Given the description of an element on the screen output the (x, y) to click on. 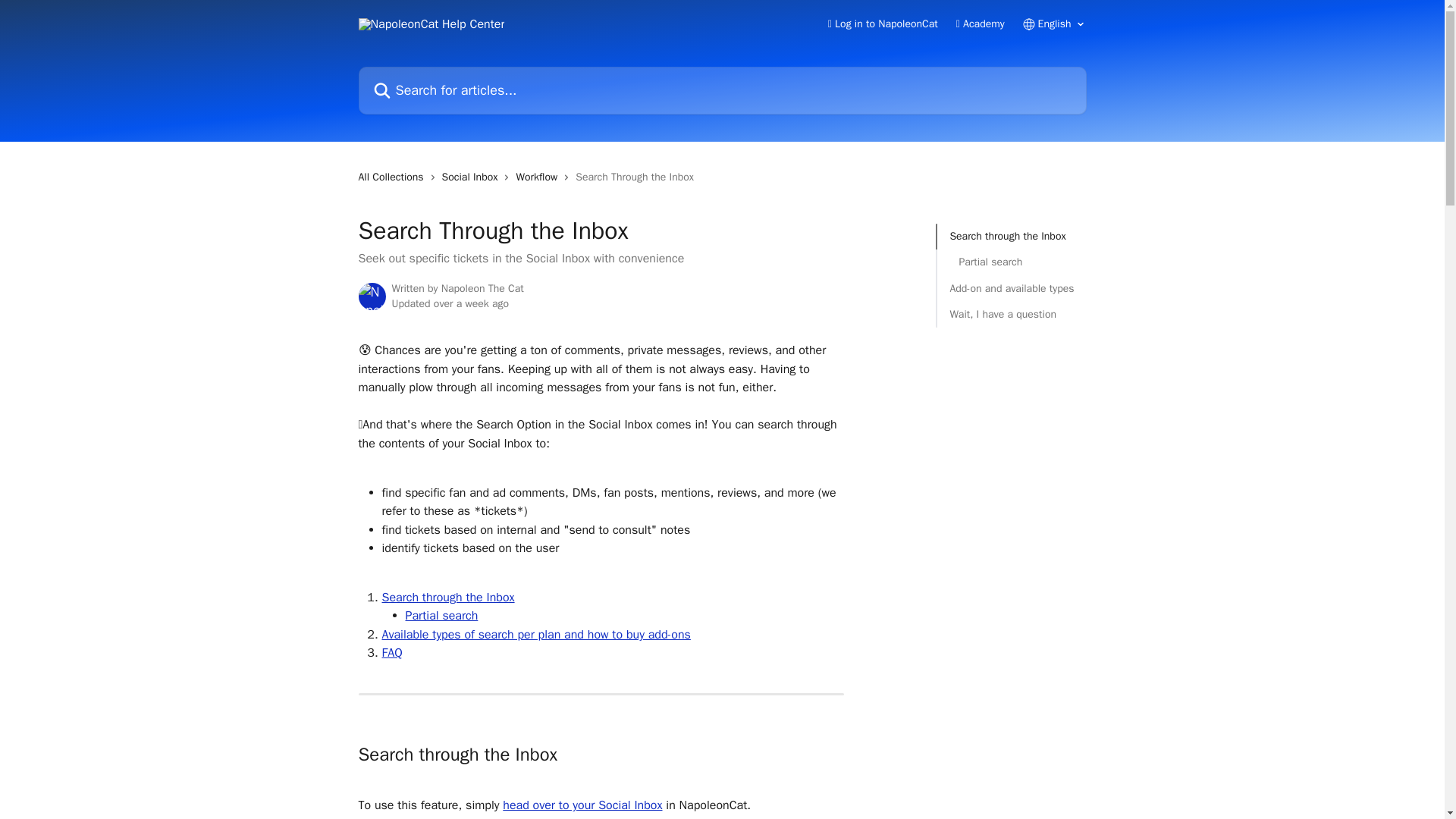
Wait, I have a question (1011, 314)
Partial search (1011, 262)
Add-on and available types (1011, 288)
Search through the Inbox (1011, 236)
Search through the Inbox (448, 597)
Available types of search per plan and how to buy add-ons (535, 634)
Partial search (440, 615)
head over to your Social Inbox (582, 805)
FAQ (392, 652)
Social Inbox (472, 176)
All Collections (393, 176)
Workflow (539, 176)
